Given the description of an element on the screen output the (x, y) to click on. 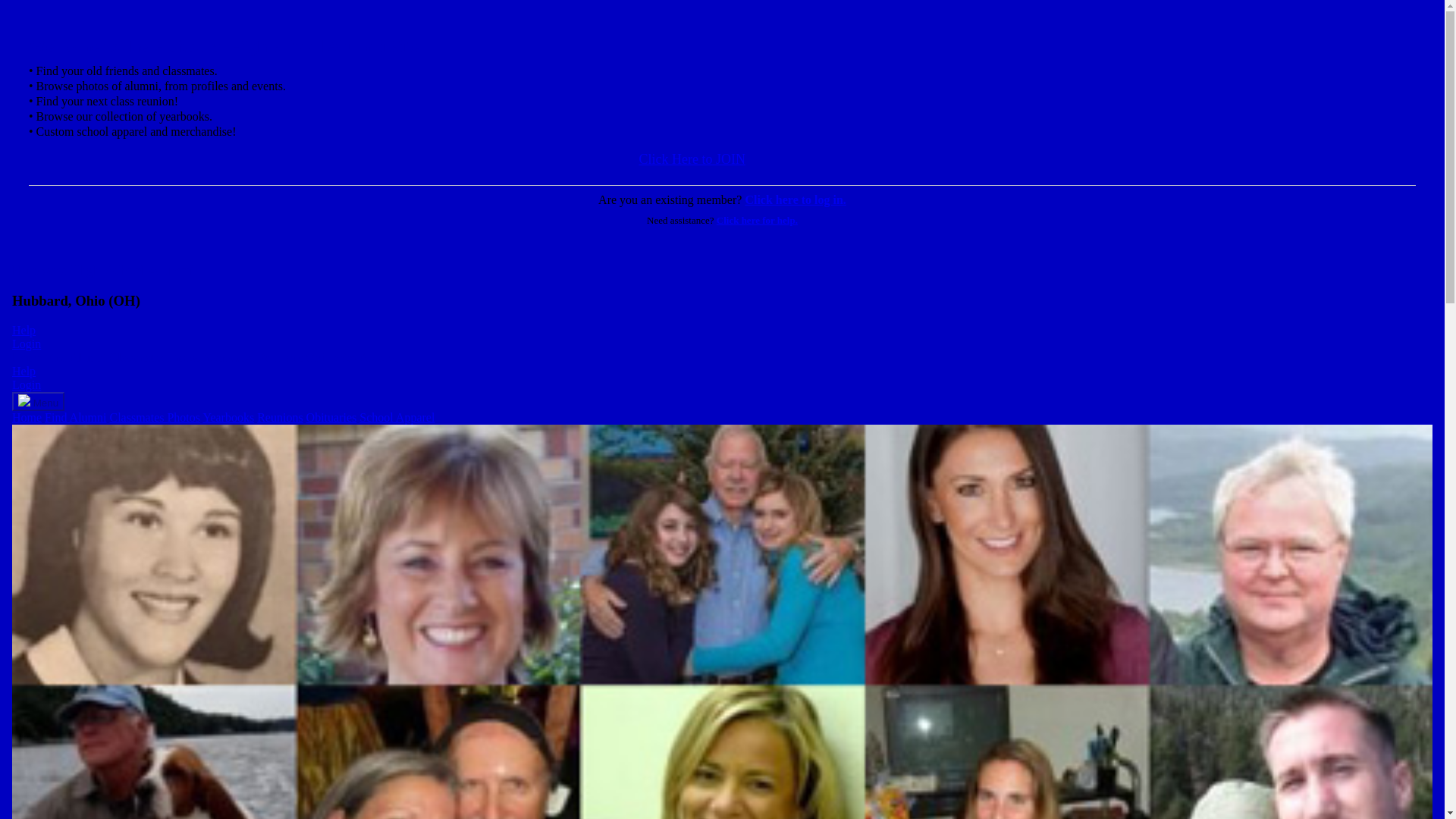
Login (25, 343)
Hubbard High School Eagles Apparel Store (377, 357)
Hubbard High School Alumni Home (26, 417)
Hubbard High School Yearbooks (227, 417)
Click Here to JOIN (691, 158)
Yearbooks (227, 417)
Hubbard High School Alumni Home (26, 357)
Register as an alumni of Hubbard High School Alumni (691, 158)
Home (26, 417)
Click here to log in. (794, 199)
Help (22, 370)
Obituaries (330, 417)
Hubbard High School Alumni (102, 270)
Login to Hubbard High School Alumni Site (25, 343)
Hubbard High School Classmates Photos (154, 417)
